Given the description of an element on the screen output the (x, y) to click on. 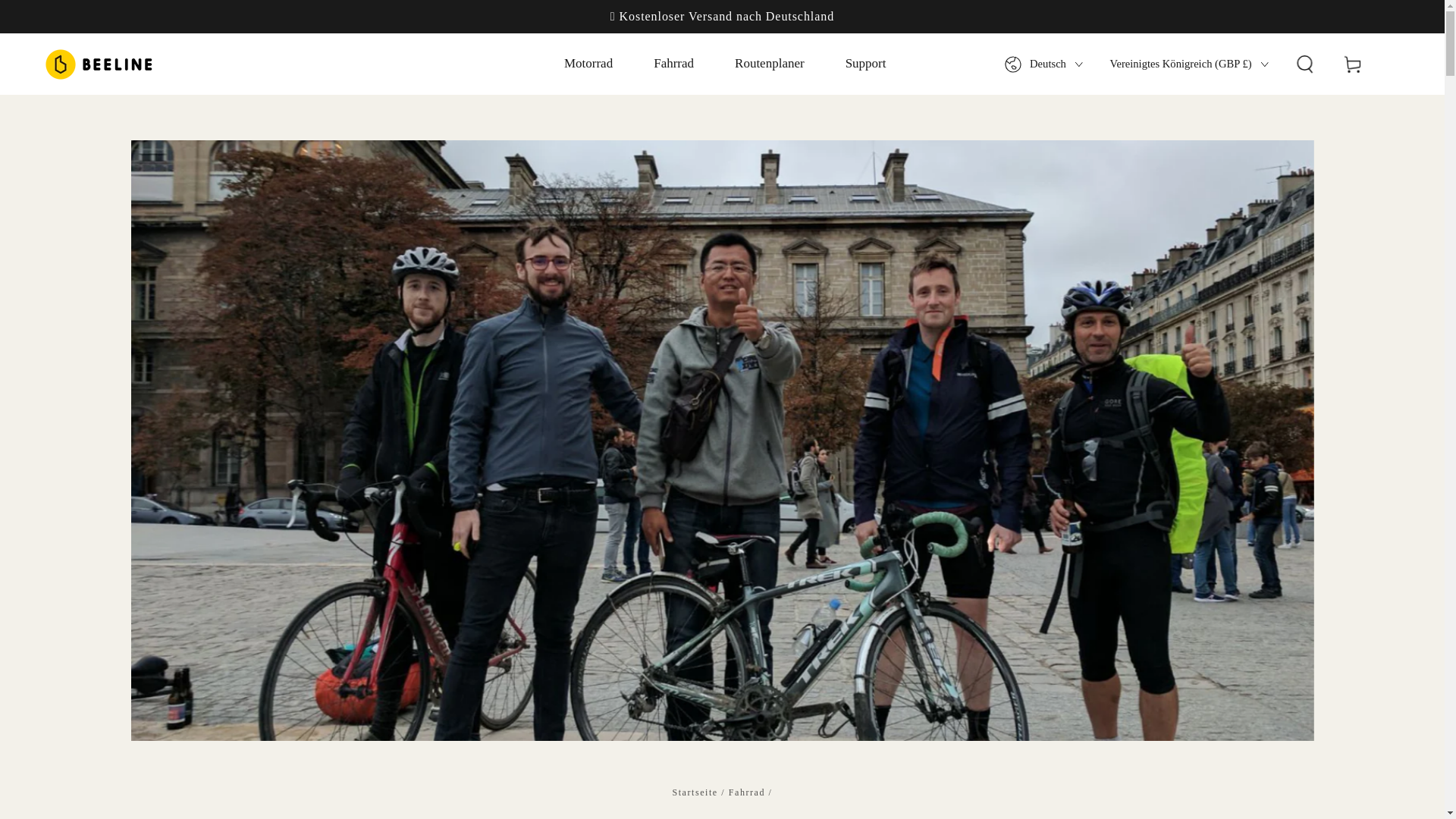
Fahrrad (673, 63)
Zum Inhalt springen (81, 18)
Support (865, 63)
Motorrad (588, 63)
Routenplaner (769, 63)
